Given the description of an element on the screen output the (x, y) to click on. 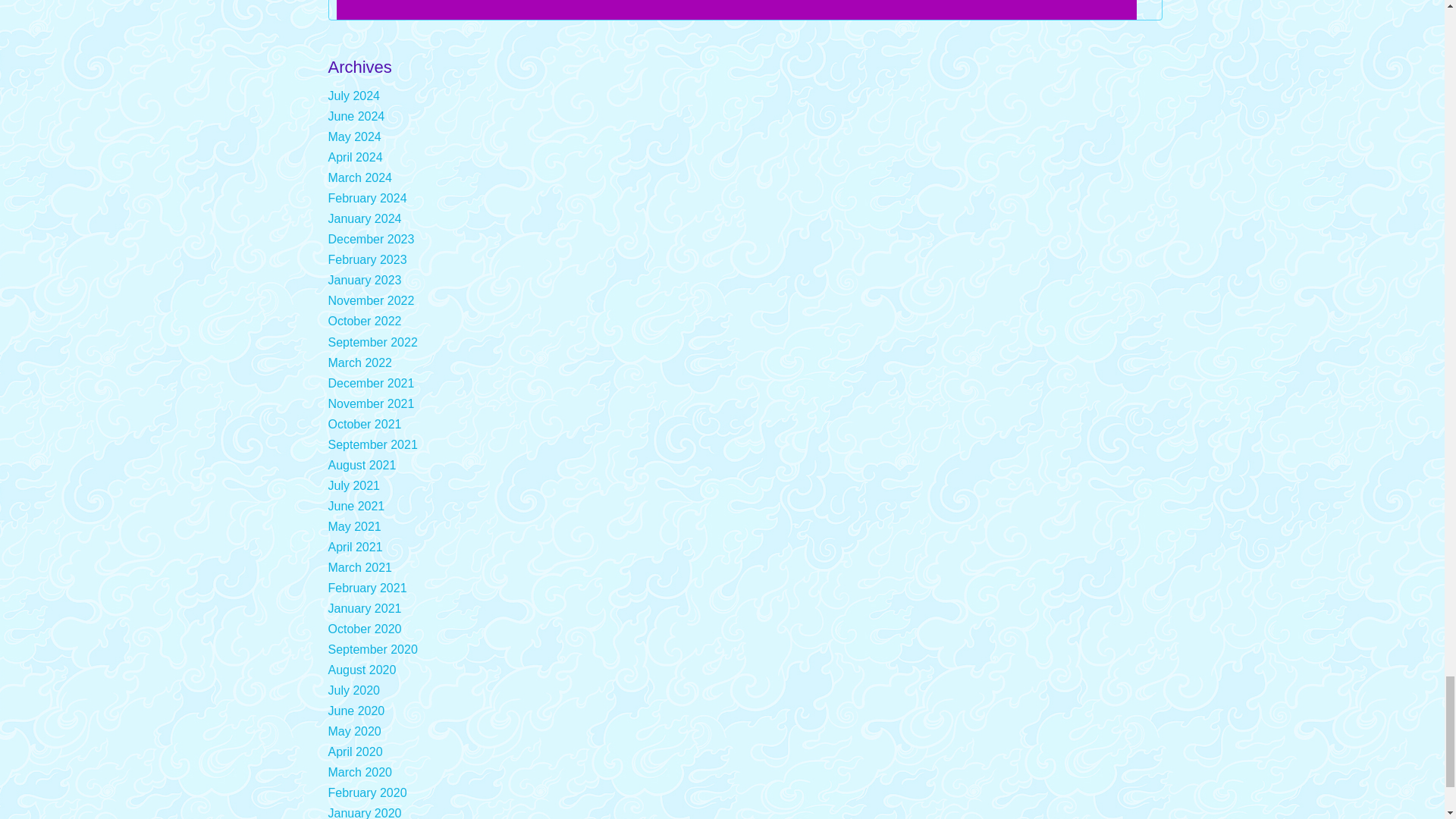
Subscribe (736, 10)
